Given the description of an element on the screen output the (x, y) to click on. 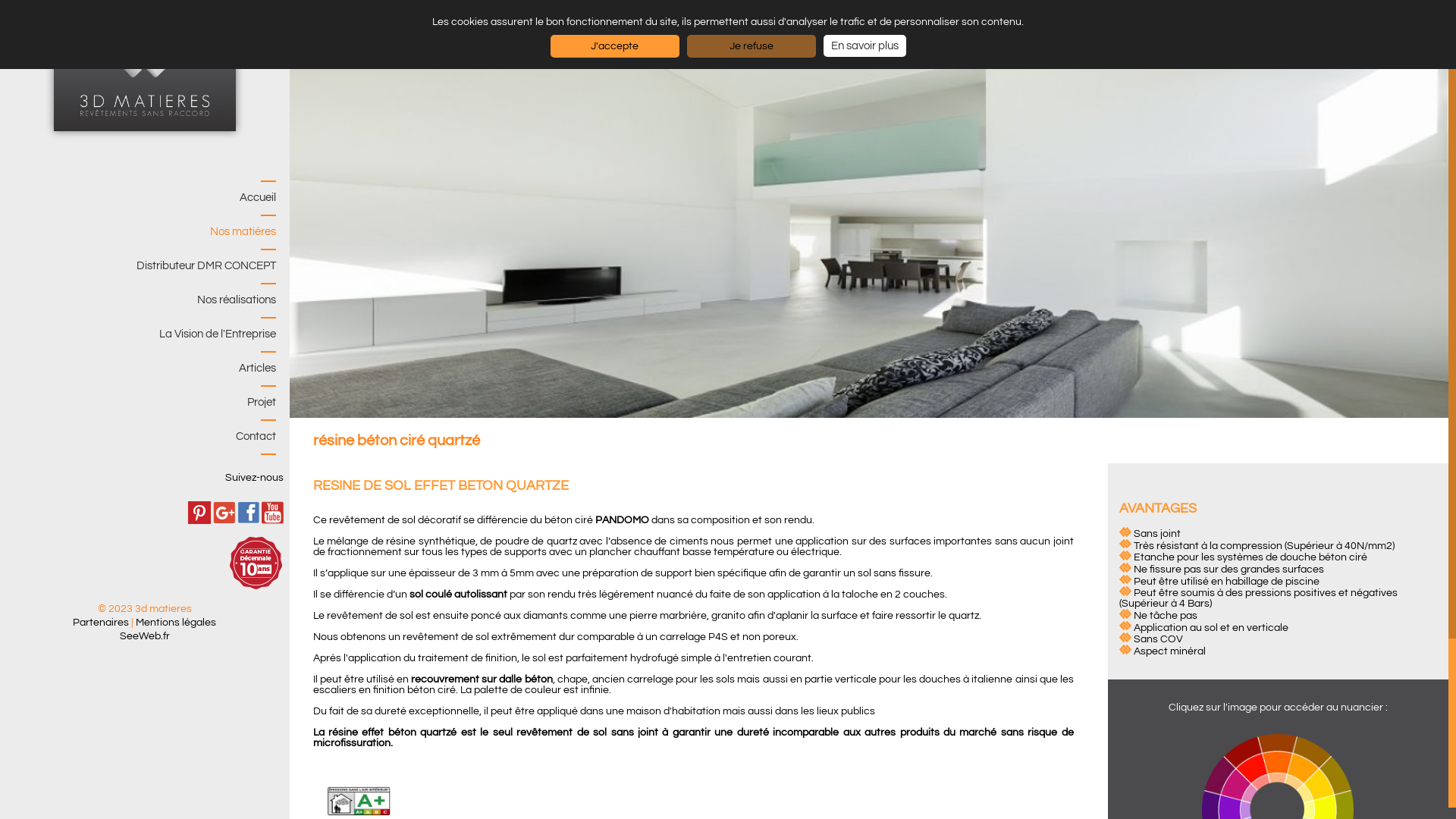
Accueil 3d matieres Element type: hover (144, 65)
Partenaires Element type: text (100, 622)
Accueil Element type: text (141, 197)
En savoir plus Element type: text (864, 45)
Contact Element type: text (141, 436)
Projet Element type: text (141, 401)
Je refuse Element type: text (751, 45)
Articles Element type: text (141, 367)
J'accepte Element type: text (614, 45)
SeeWeb.fr Element type: text (144, 635)
La Vision de l'Entreprise Element type: text (141, 333)
Distributeur DMR CONCEPT Element type: text (141, 265)
